Given the description of an element on the screen output the (x, y) to click on. 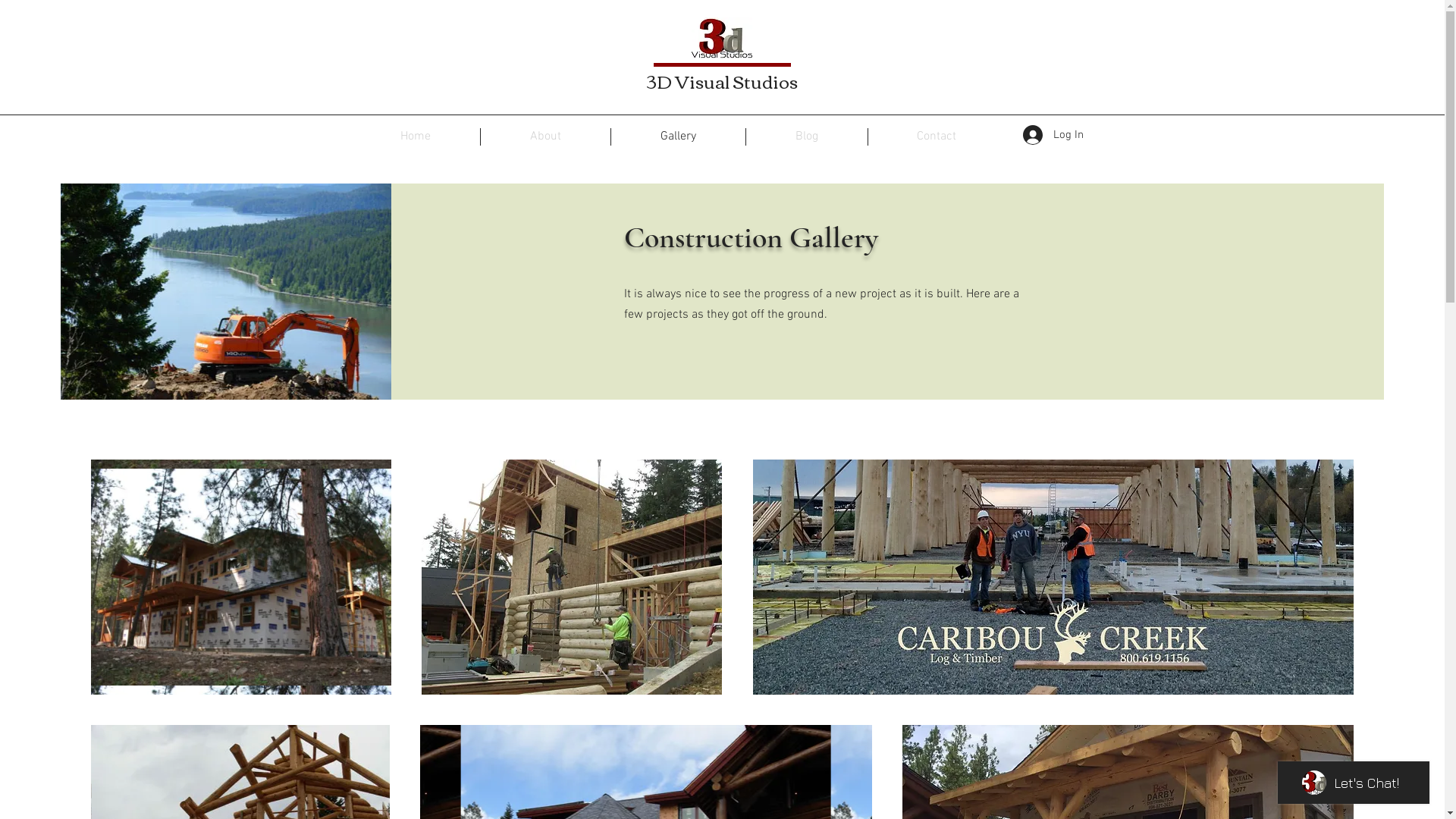
Home Element type: text (414, 136)
About Element type: text (545, 136)
3D Visual Studios Element type: text (721, 80)
Blog Element type: text (806, 136)
Log In Element type: text (1052, 134)
Gallery Element type: text (678, 136)
Contact Element type: text (935, 136)
